Given the description of an element on the screen output the (x, y) to click on. 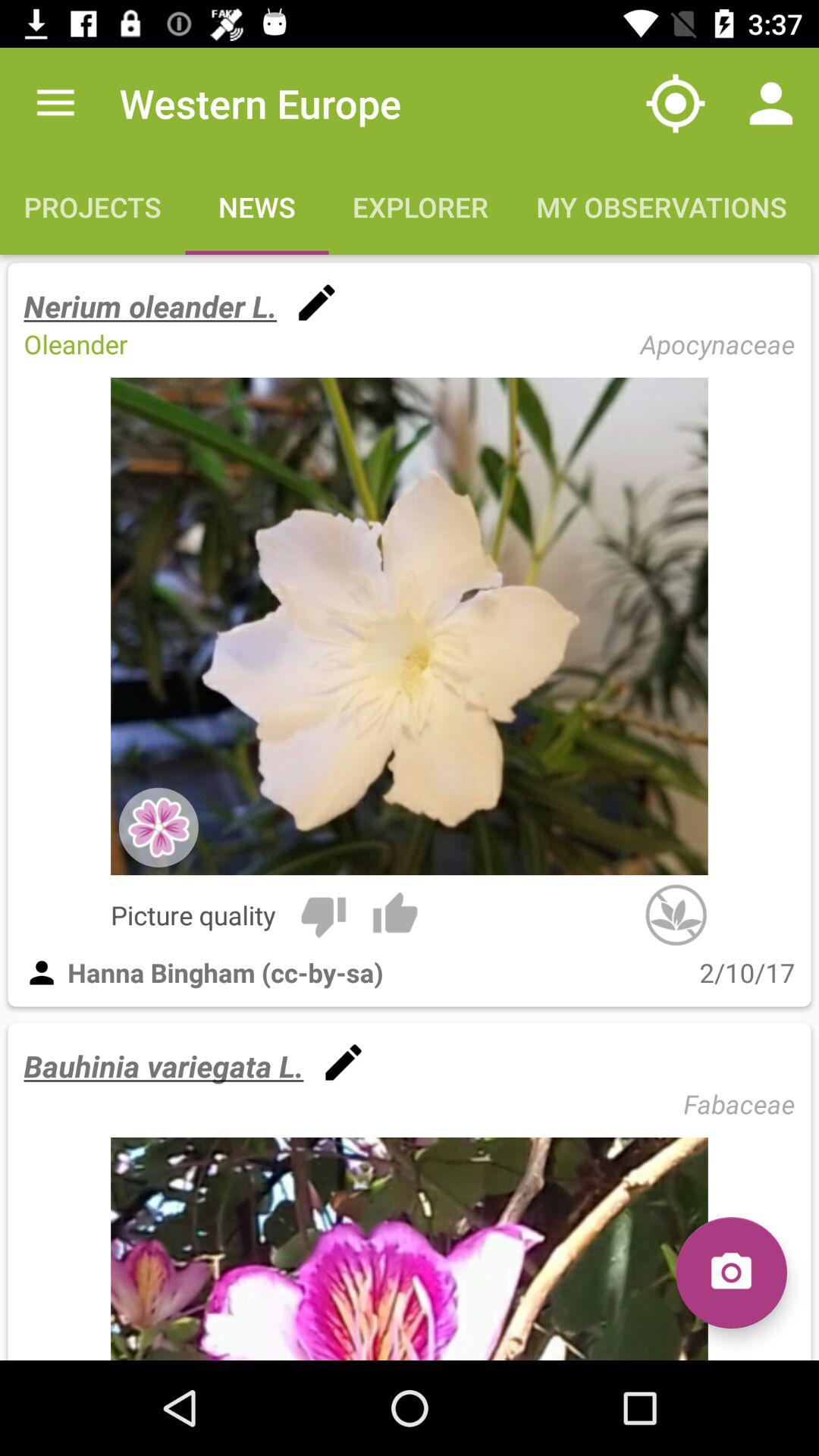
choose the icon above the my observations (771, 103)
